Given the description of an element on the screen output the (x, y) to click on. 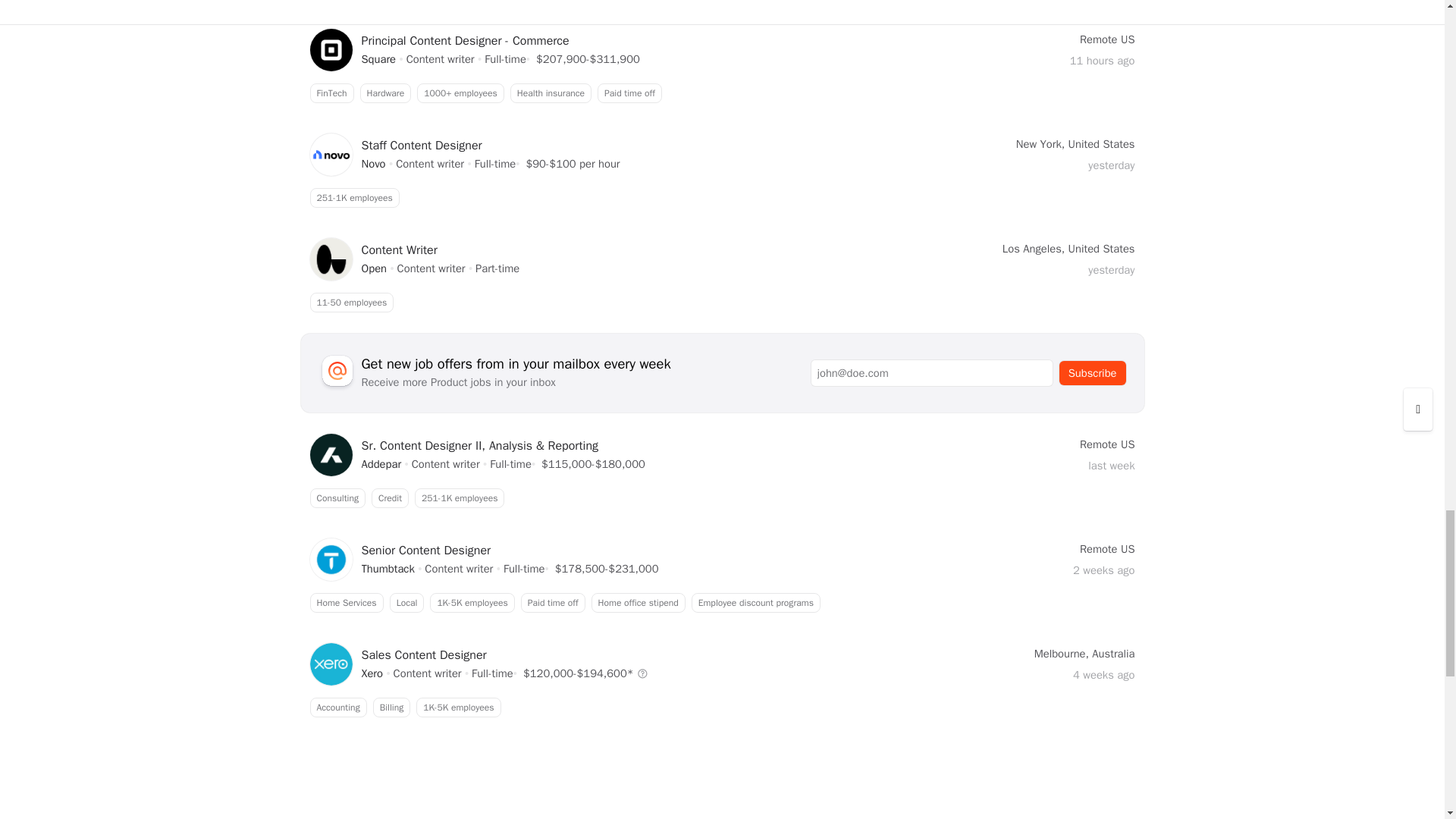
Content writer jobs (440, 59)
Content writer jobs at Square (378, 59)
Content writer jobs (427, 673)
11-50 employees (721, 302)
Content writer jobs at Addepar (721, 497)
251-1K employees (381, 463)
Content writer jobs at Novo (721, 198)
Content writer jobs (373, 163)
